Given the description of an element on the screen output the (x, y) to click on. 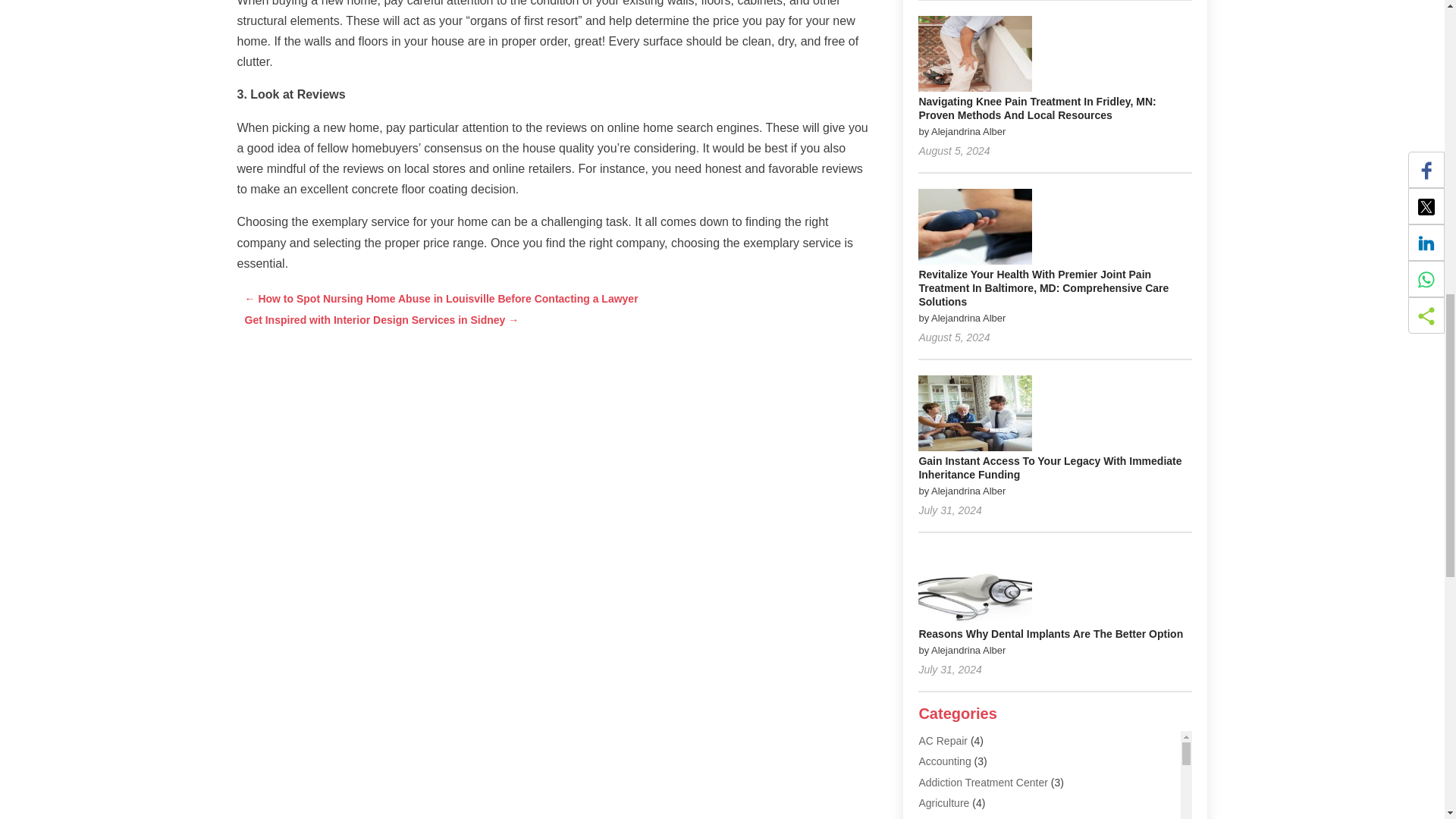
Reasons Why Dental Implants Are The Better Option (1050, 633)
Addiction Treatment Center (982, 782)
AC Repair (943, 740)
Accounting (944, 761)
Agriculture (943, 802)
